Given the description of an element on the screen output the (x, y) to click on. 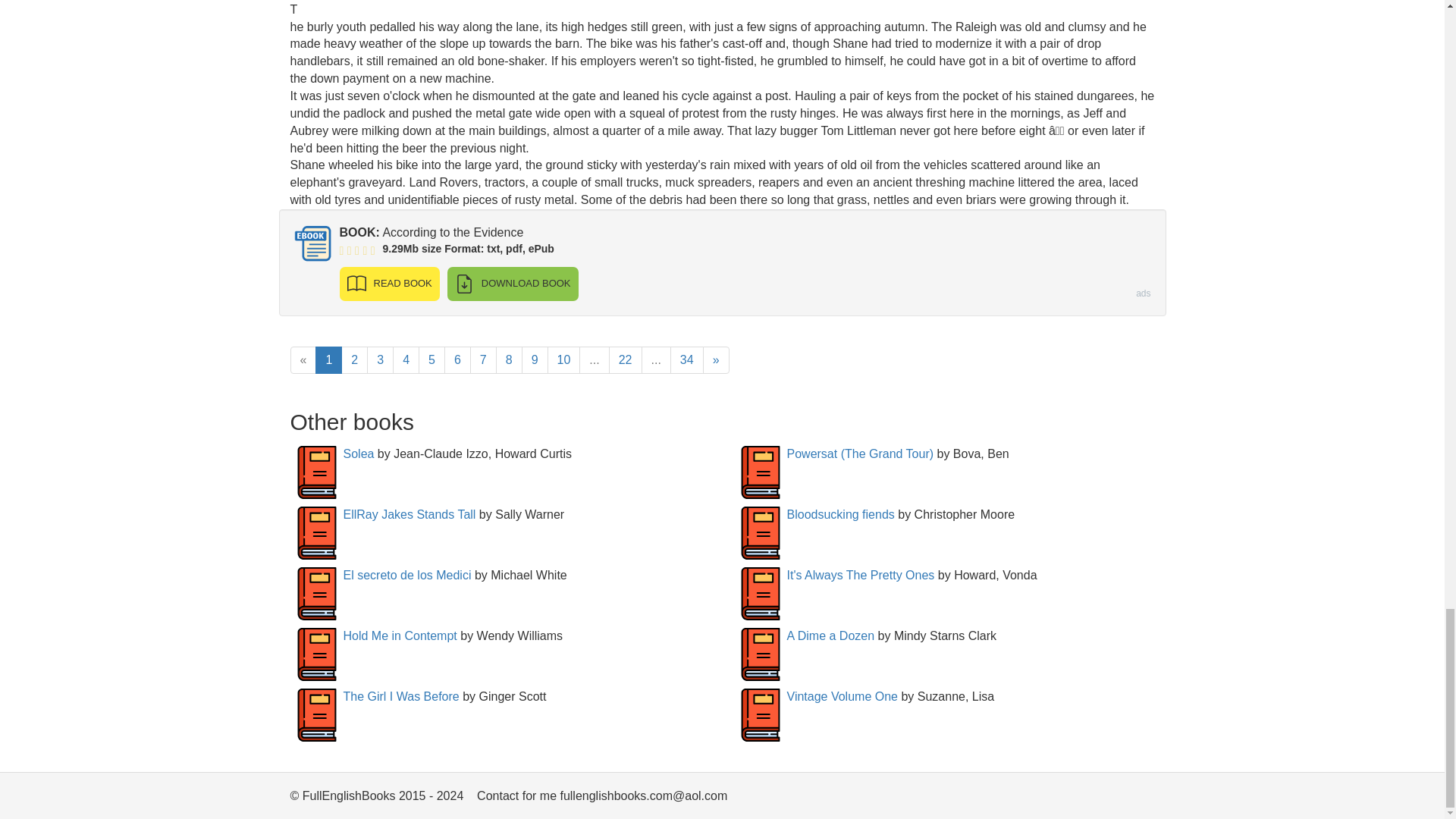
Solea (358, 453)
7 (483, 360)
10 (563, 360)
EllRay Jakes Stands Tall (409, 513)
22 (625, 360)
34 (686, 360)
LiveInternet (1142, 799)
DOWNLOAD BOOK (512, 283)
2 (354, 360)
9 (534, 360)
3 (379, 360)
4 (406, 360)
6 (457, 360)
1 (328, 360)
READ BOOK (389, 283)
